Given the description of an element on the screen output the (x, y) to click on. 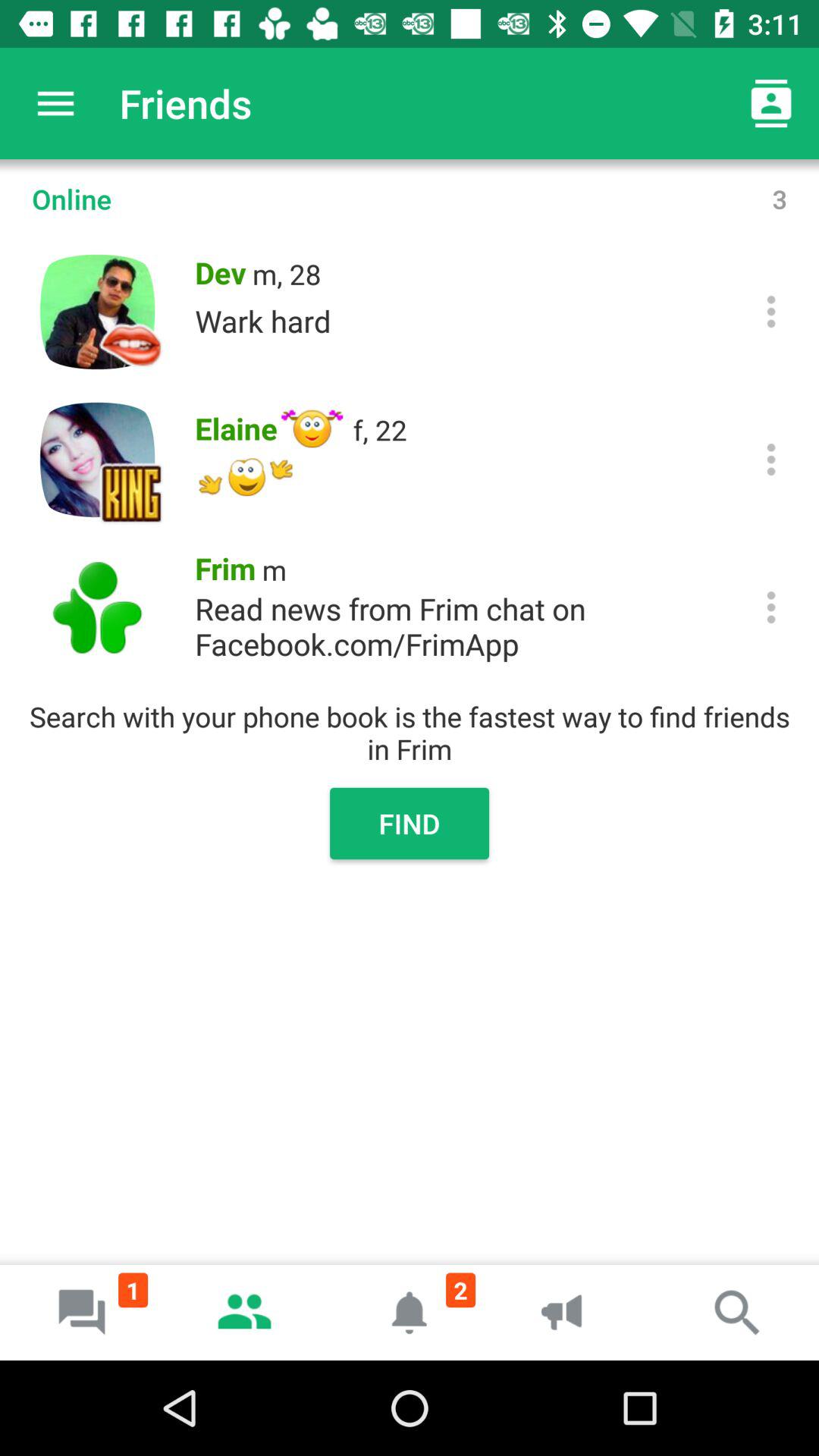
access friend settings (771, 311)
